Given the description of an element on the screen output the (x, y) to click on. 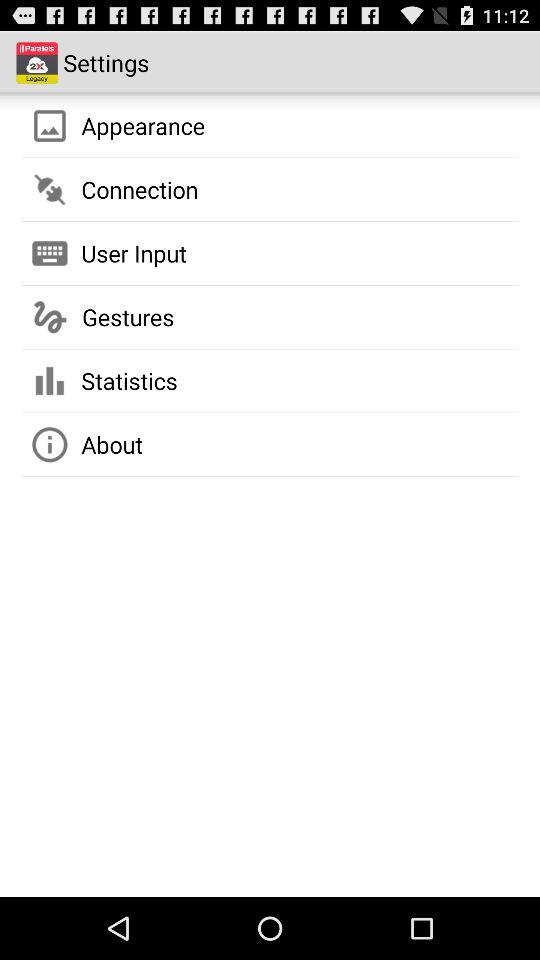
open app above gestures (133, 253)
